Given the description of an element on the screen output the (x, y) to click on. 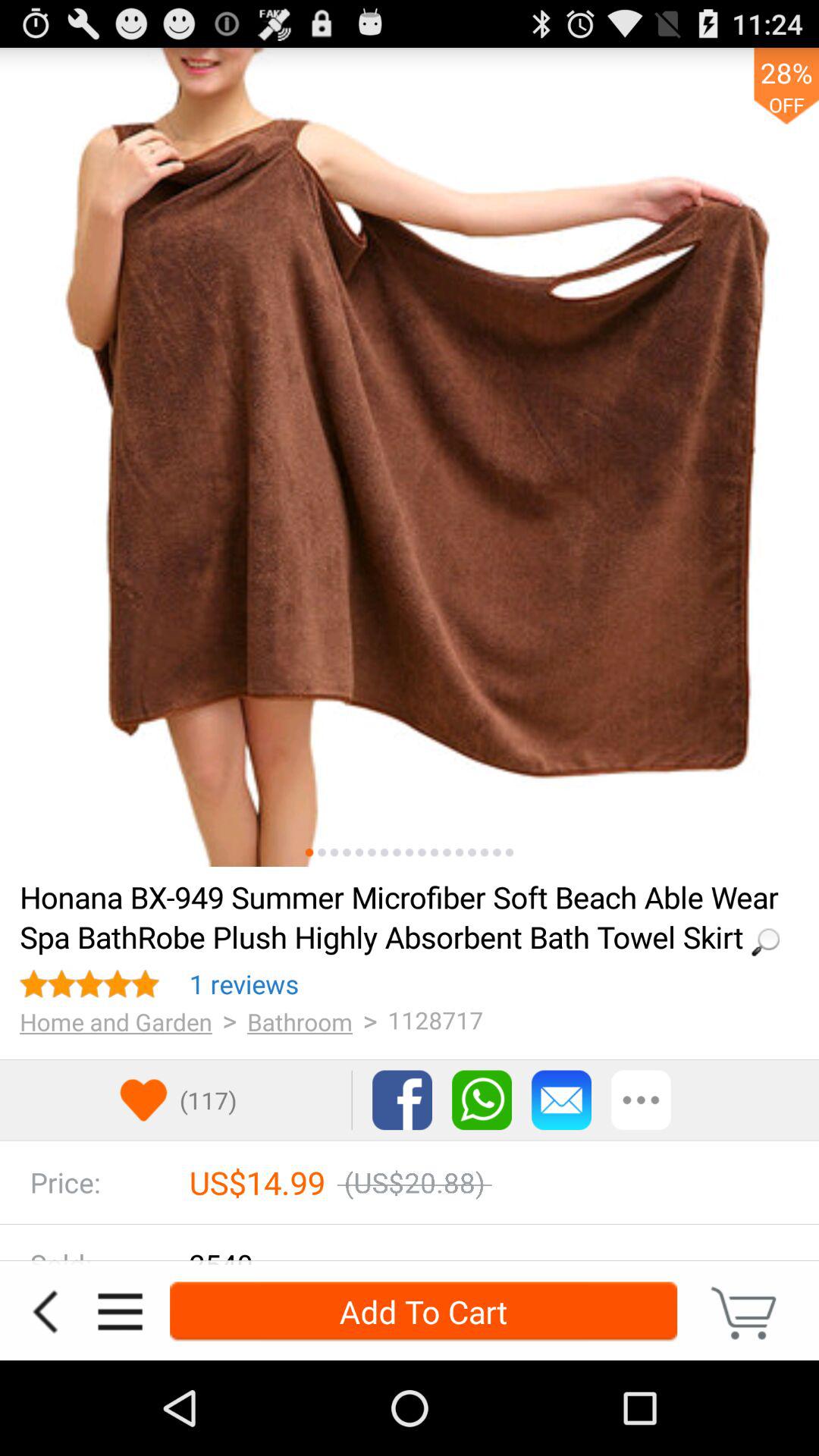
see image (484, 852)
